Given the description of an element on the screen output the (x, y) to click on. 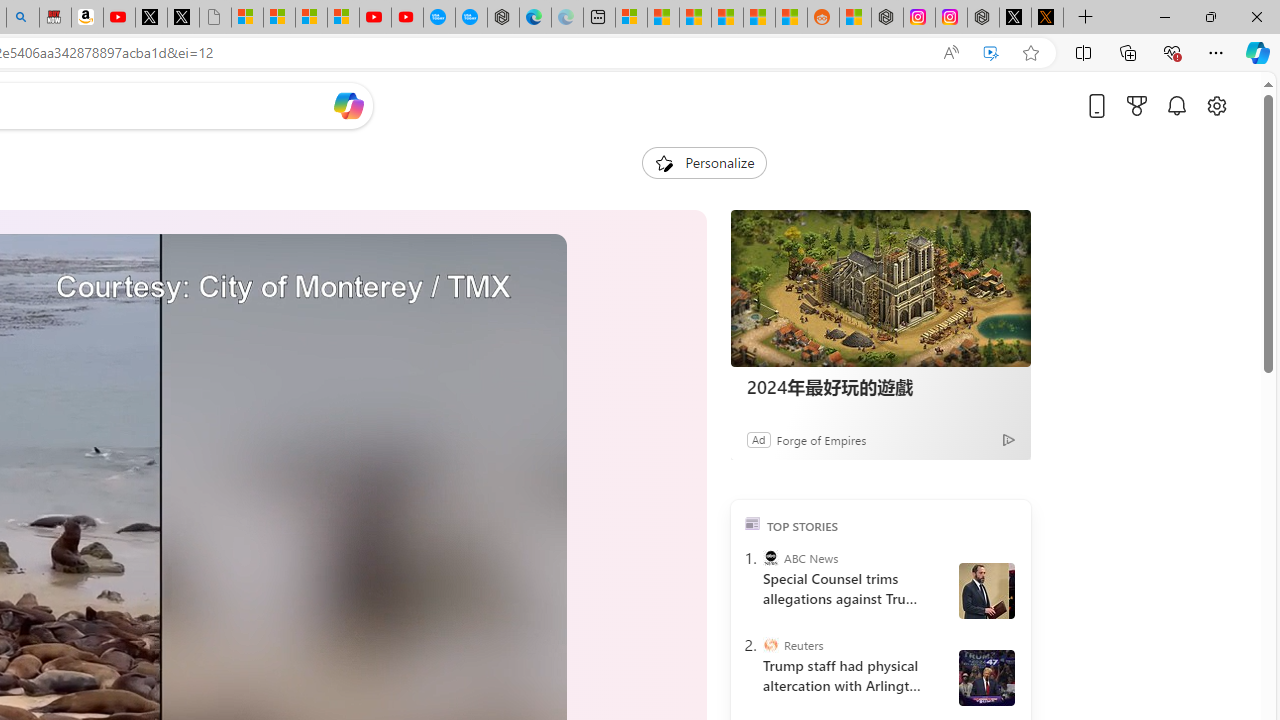
Microsoft rewards (1137, 105)
Nordace (@NordaceOfficial) / X (1014, 17)
The most popular Google 'how to' searches (471, 17)
Nordace - Nordace has arrived Hong Kong (502, 17)
Enhance video (991, 53)
YouTube Kids - An App Created for Kids to Explore Content (407, 17)
